Given the description of an element on the screen output the (x, y) to click on. 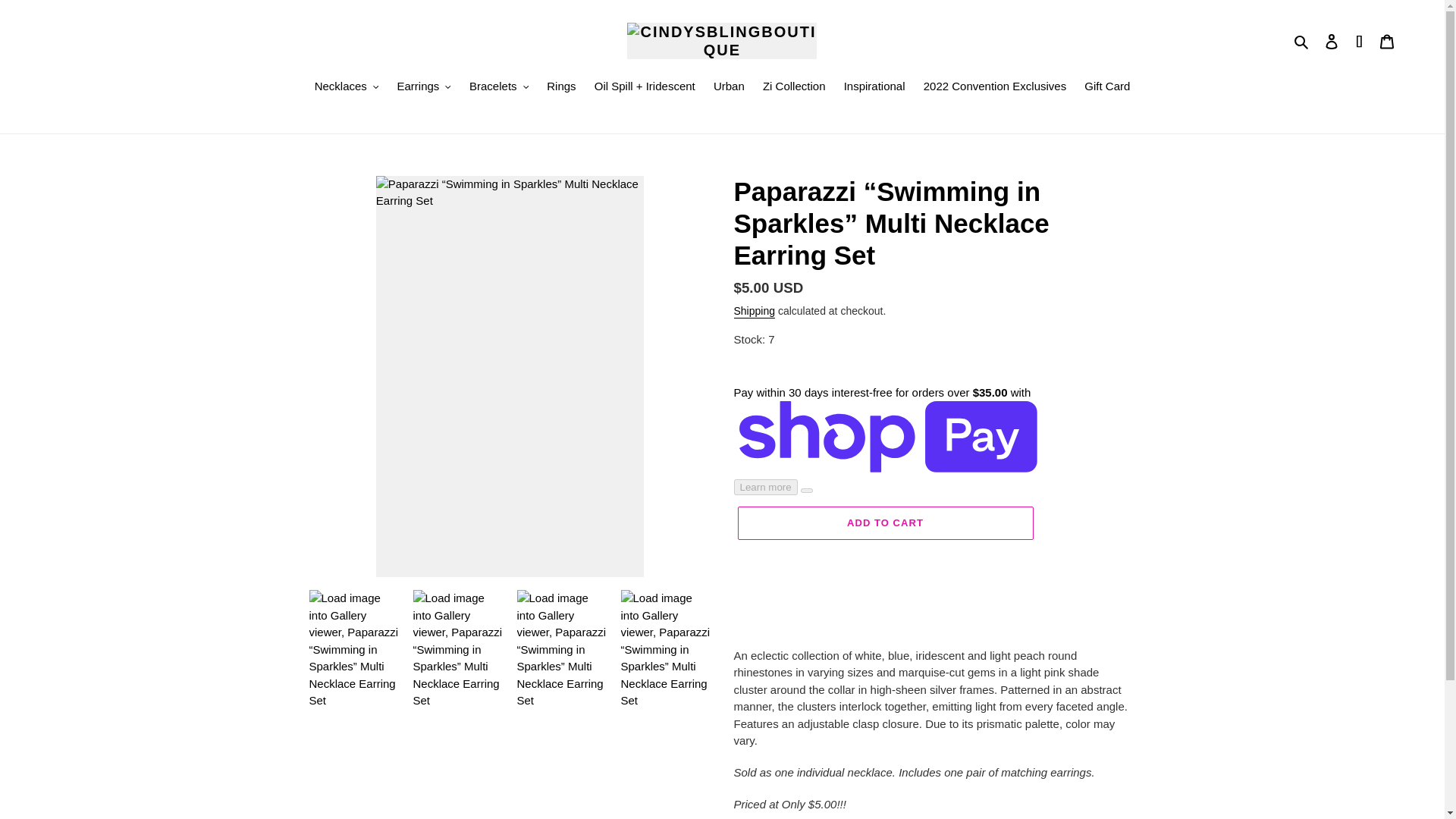
Cart (1387, 41)
Log in (1332, 41)
Search (1302, 40)
